Given the description of an element on the screen output the (x, y) to click on. 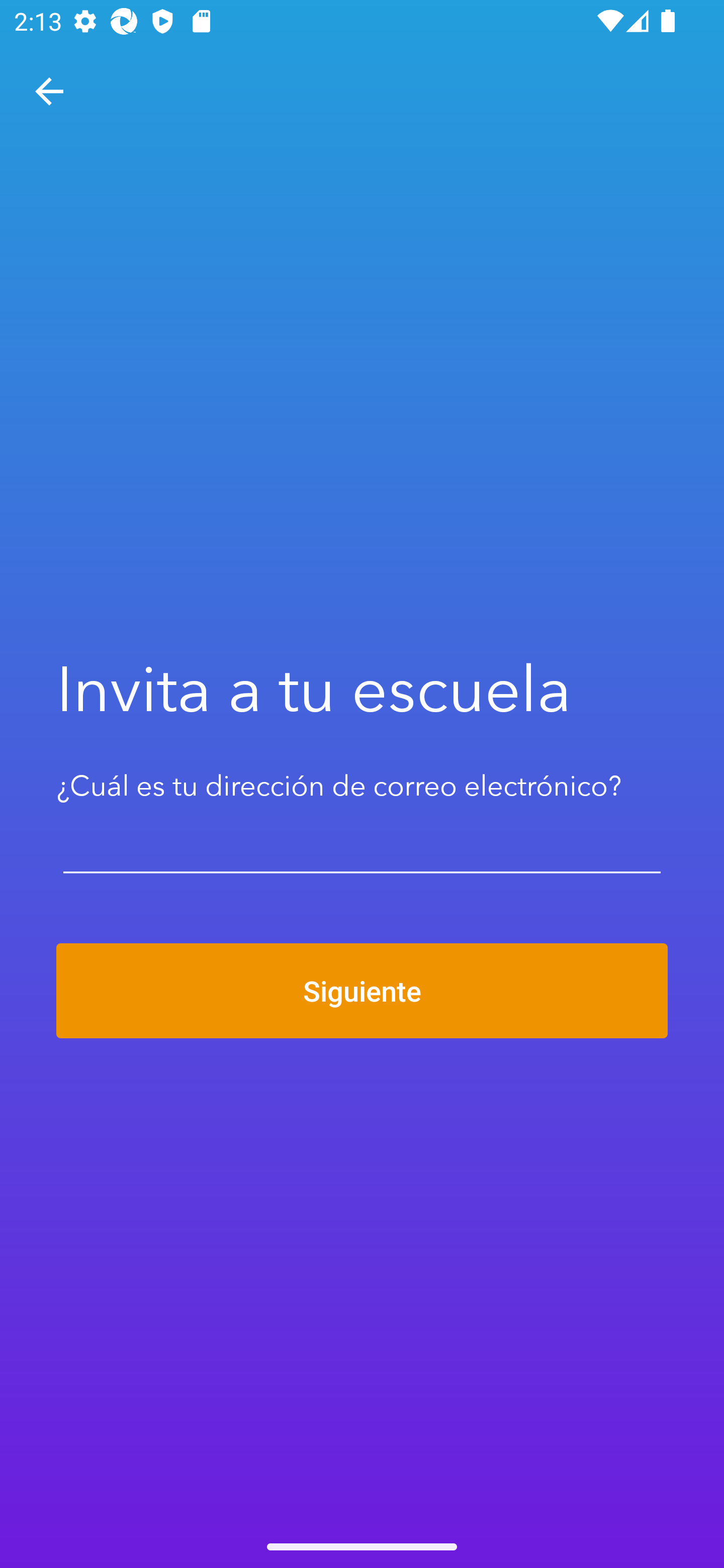
Navegar hacia arriba (49, 91)
Siguiente (361, 990)
